Given the description of an element on the screen output the (x, y) to click on. 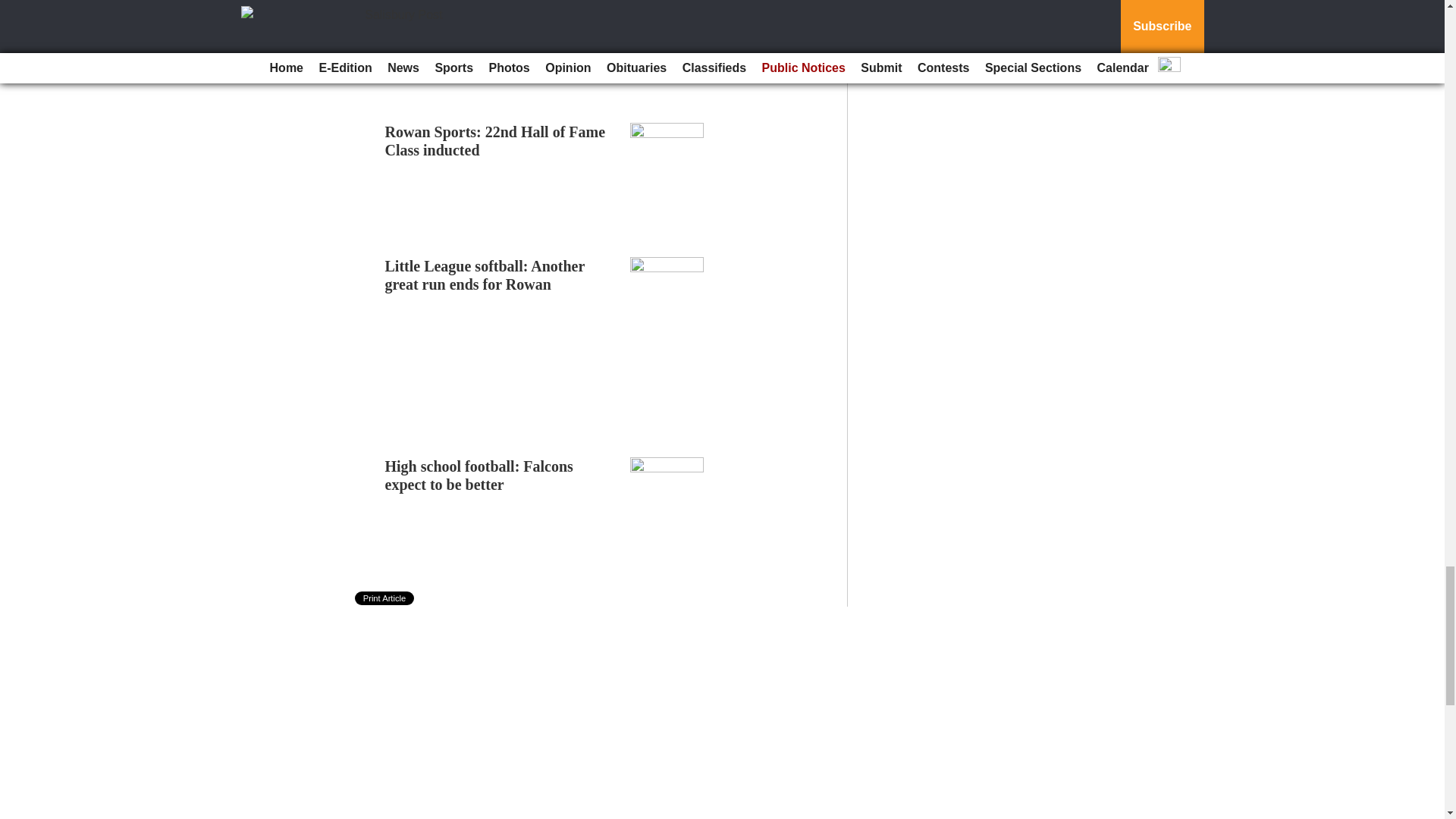
Little League softball: Another great run ends for Rowan (485, 274)
Rowan Sports: 22nd Hall of Fame Class inducted (495, 140)
High school football: Falcons expect to be better (479, 475)
Sports obituary: Coach Watts dies at 92 (496, 11)
